Given the description of an element on the screen output the (x, y) to click on. 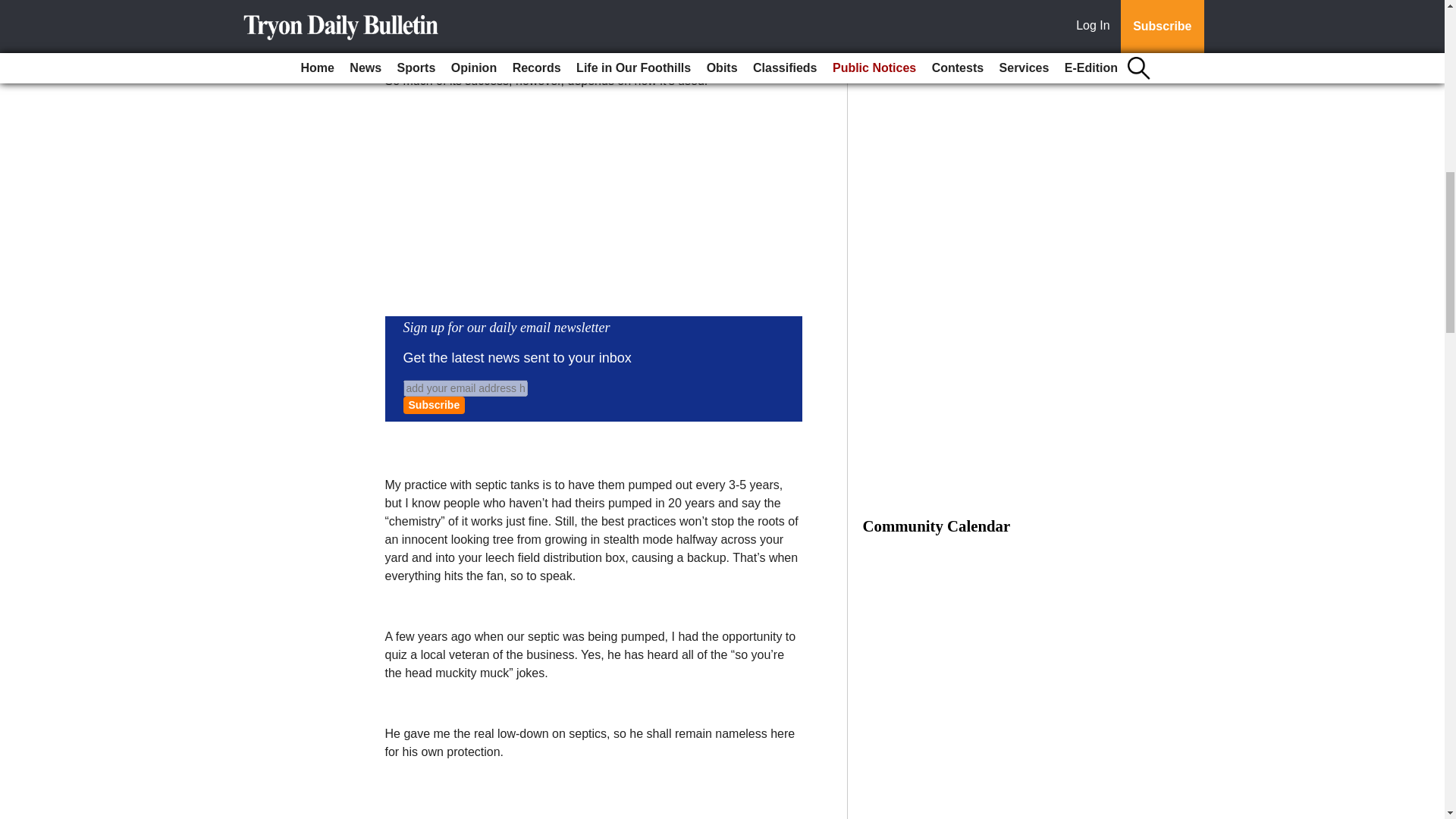
Subscribe (434, 405)
   Vote    (975, 12)
Subscribe (434, 405)
View Results Of This Poll (975, 44)
